Given the description of an element on the screen output the (x, y) to click on. 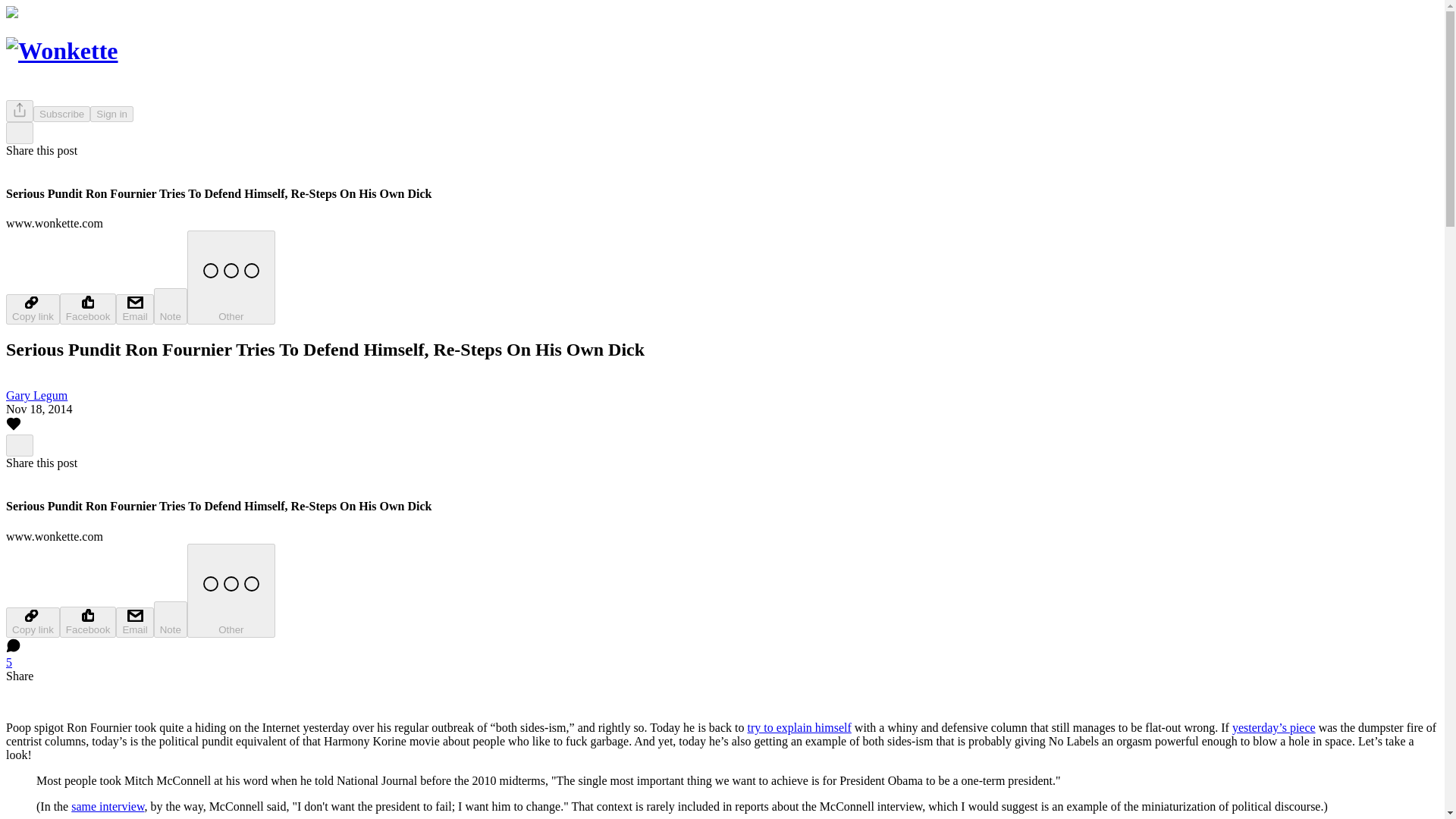
Copy link (32, 622)
Note (170, 306)
Copy link (32, 309)
Gary Legum (35, 395)
Subscribe (61, 114)
same interview (107, 806)
Facebook (87, 308)
Other (231, 277)
Sign in (111, 114)
try to explain himself (799, 727)
Other (231, 590)
Note (170, 619)
Facebook (87, 622)
Email (134, 622)
Email (134, 309)
